Given the description of an element on the screen output the (x, y) to click on. 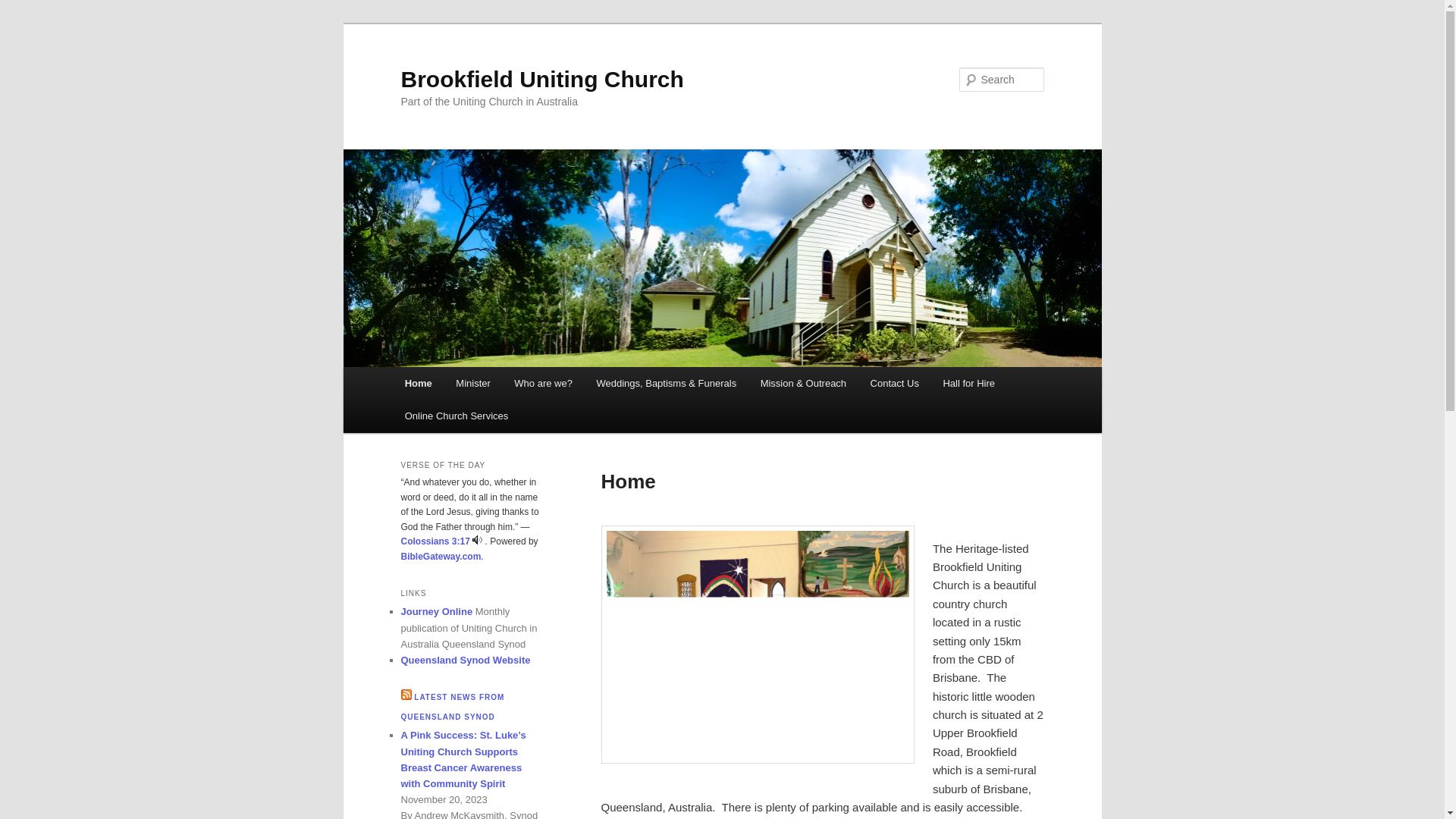
Search Element type: text (24, 8)
Brookfield Uniting Church Element type: text (541, 78)
Journey Online Element type: text (436, 611)
Queensland Synod Website Element type: text (465, 659)
Minister Element type: text (473, 383)
Hall for Hire Element type: text (969, 383)
Home Element type: text (418, 383)
Colossians 3:17 Element type: text (434, 541)
Mission & Outreach Element type: text (803, 383)
BibleGateway.com Element type: text (440, 556)
LATEST NEWS FROM QUEENSLAND SYNOD Element type: text (452, 707)
Listen to chapter Element type: hover (477, 541)
Online Church Services Element type: text (456, 415)
Skip to primary content Element type: text (22, 22)
Contact Us Element type: text (894, 383)
Weddings, Baptisms & Funerals Element type: text (666, 383)
Who are we? Element type: text (543, 383)
